Given the description of an element on the screen output the (x, y) to click on. 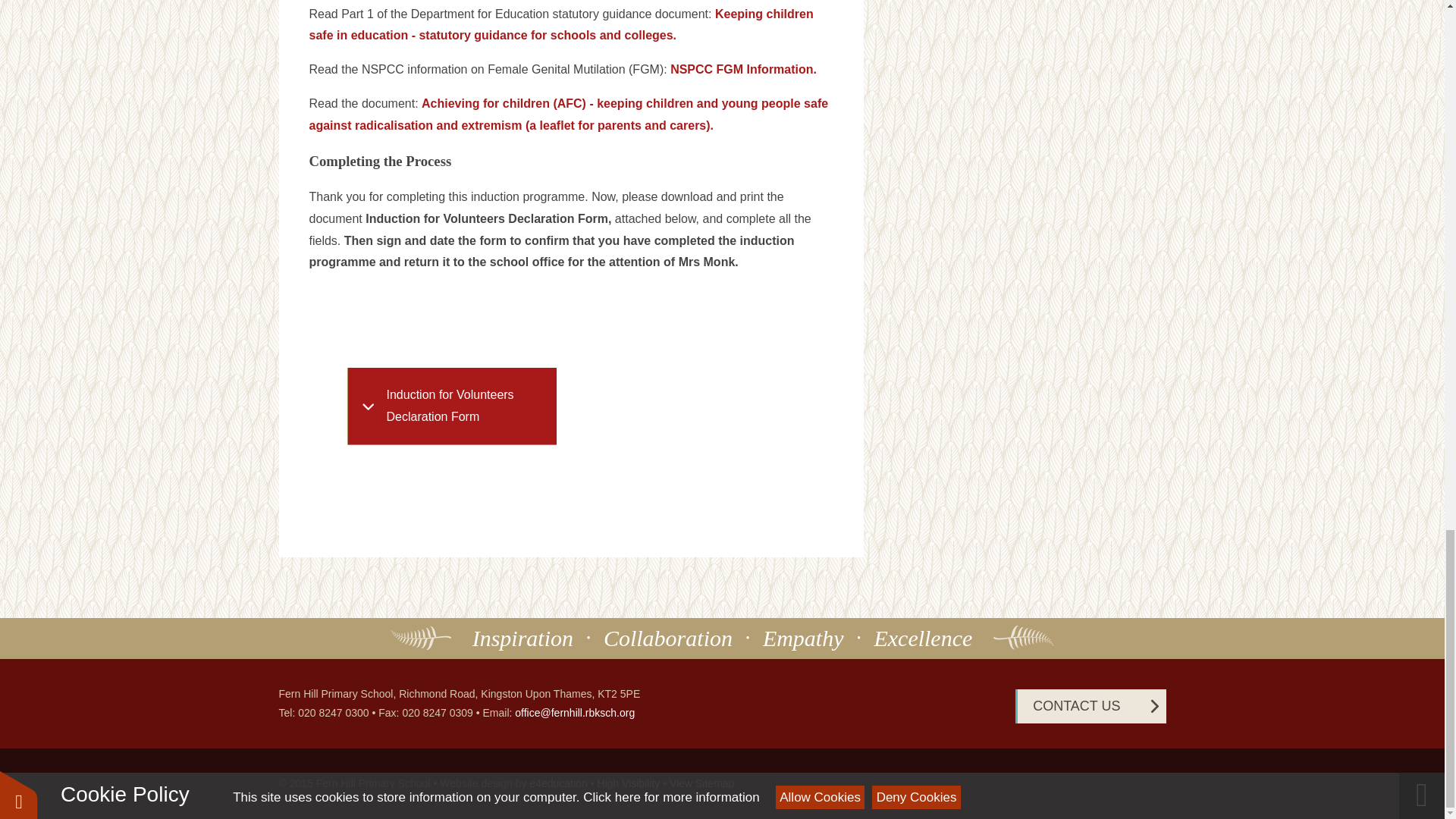
NSPCC FGM Information (740, 69)
